Given the description of an element on the screen output the (x, y) to click on. 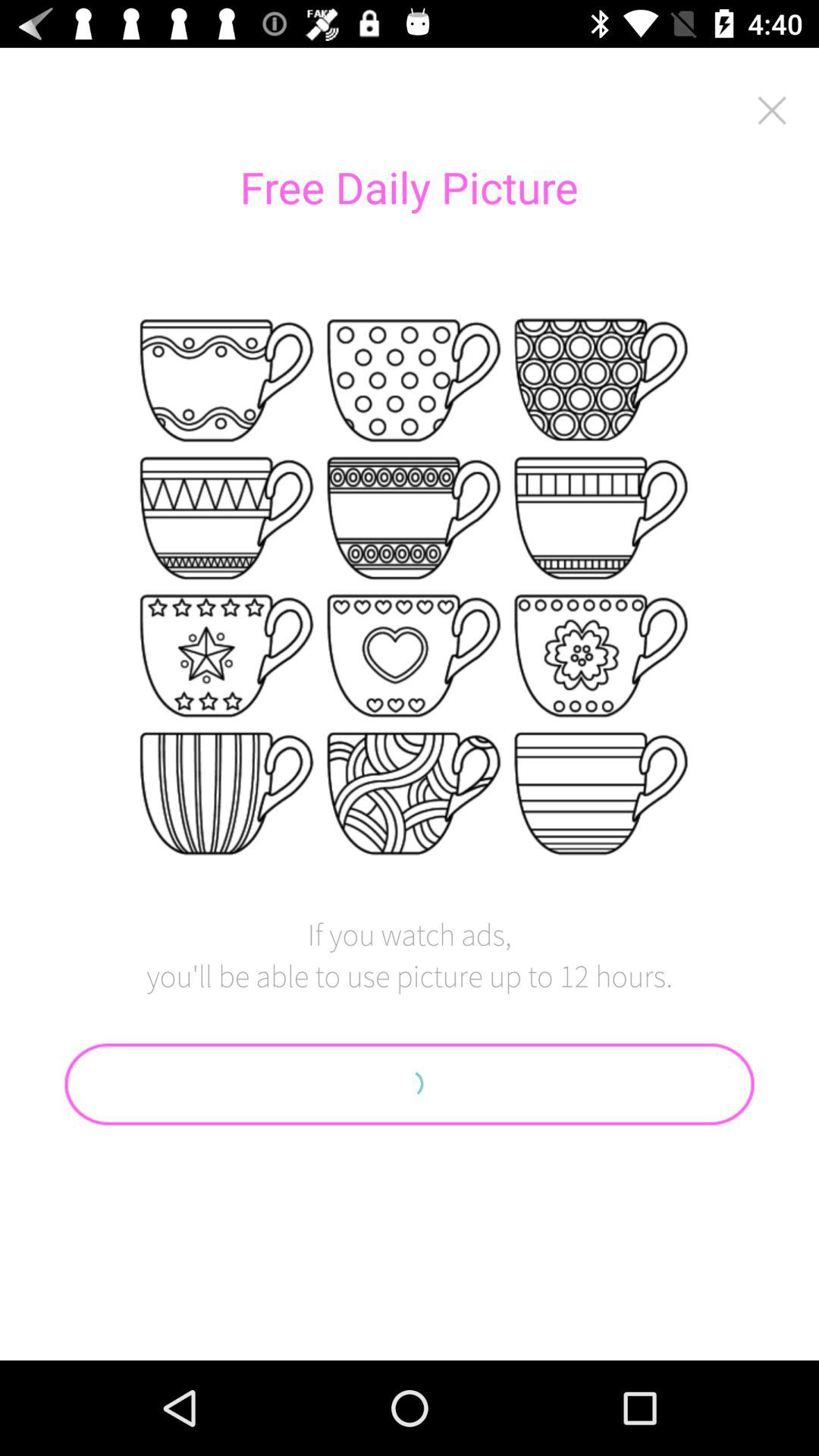
close the advertisement (772, 110)
